Given the description of an element on the screen output the (x, y) to click on. 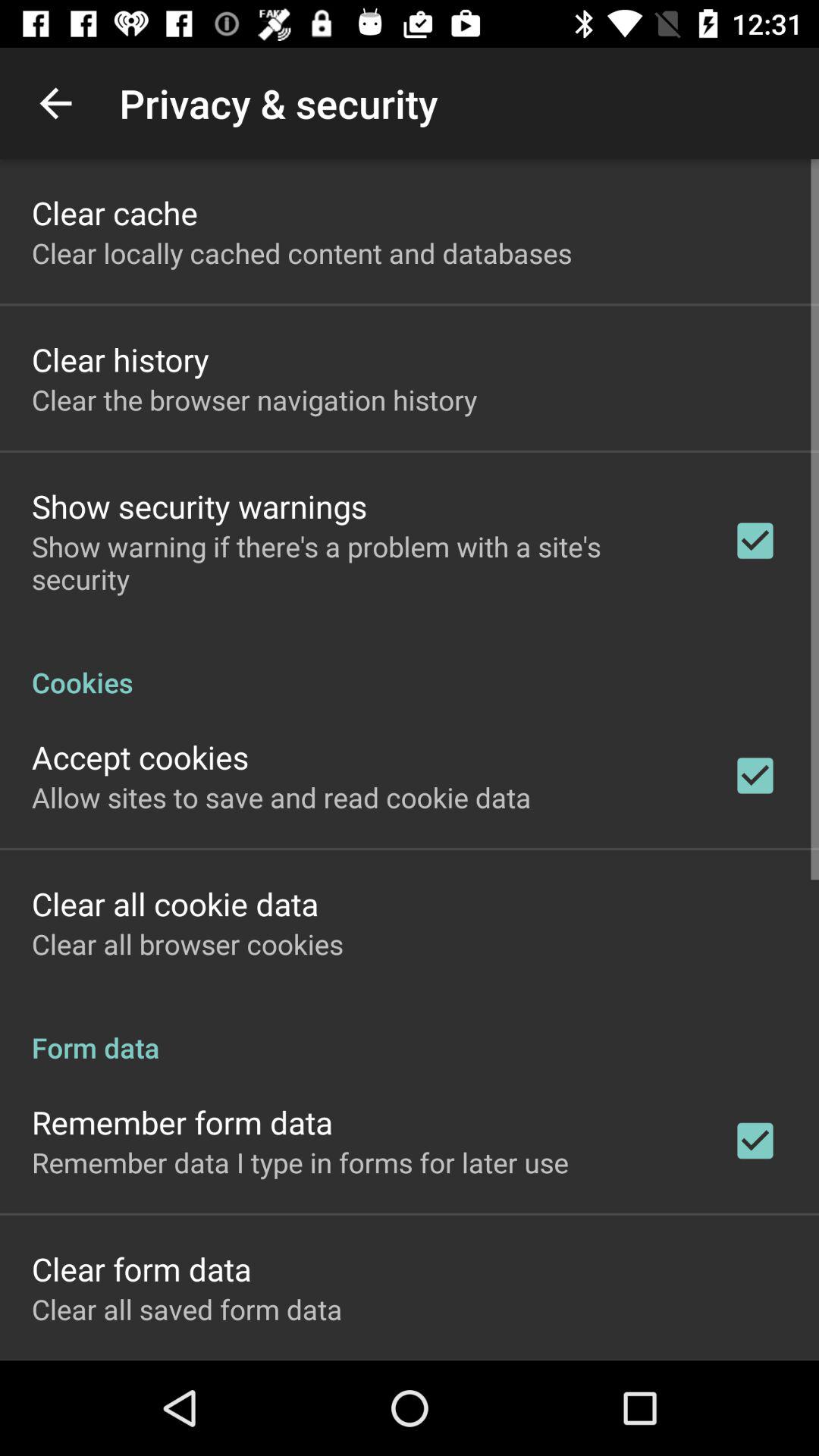
select the app below the clear cache item (301, 252)
